Given the description of an element on the screen output the (x, y) to click on. 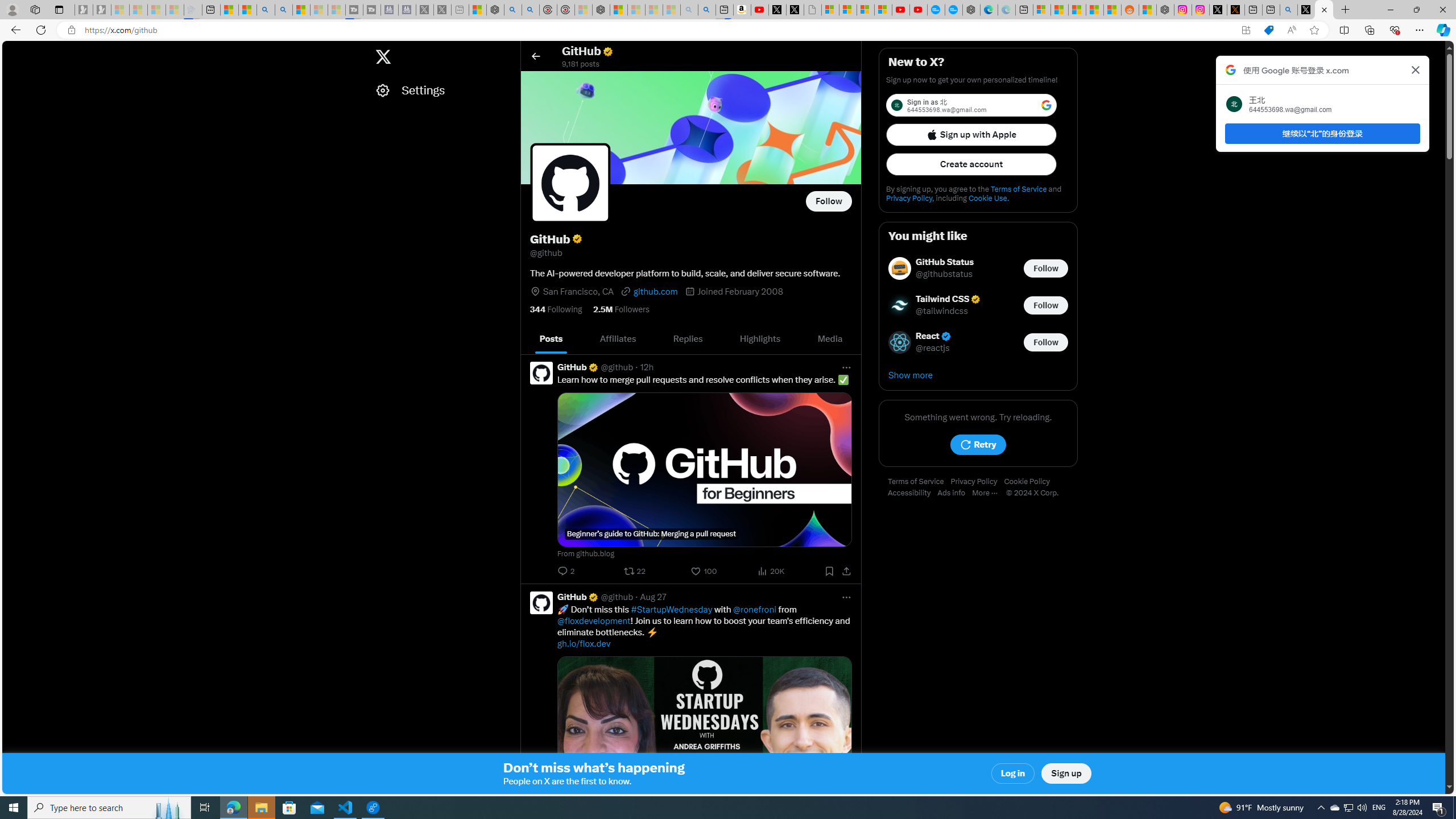
Retry (978, 444)
Terms of Service (919, 481)
Affiliates (617, 338)
#StartupWednesday (670, 609)
Cookie Policy (1030, 481)
GitHub Status @githubstatus Follow @githubstatus (978, 268)
Untitled (813, 9)
